Given the description of an element on the screen output the (x, y) to click on. 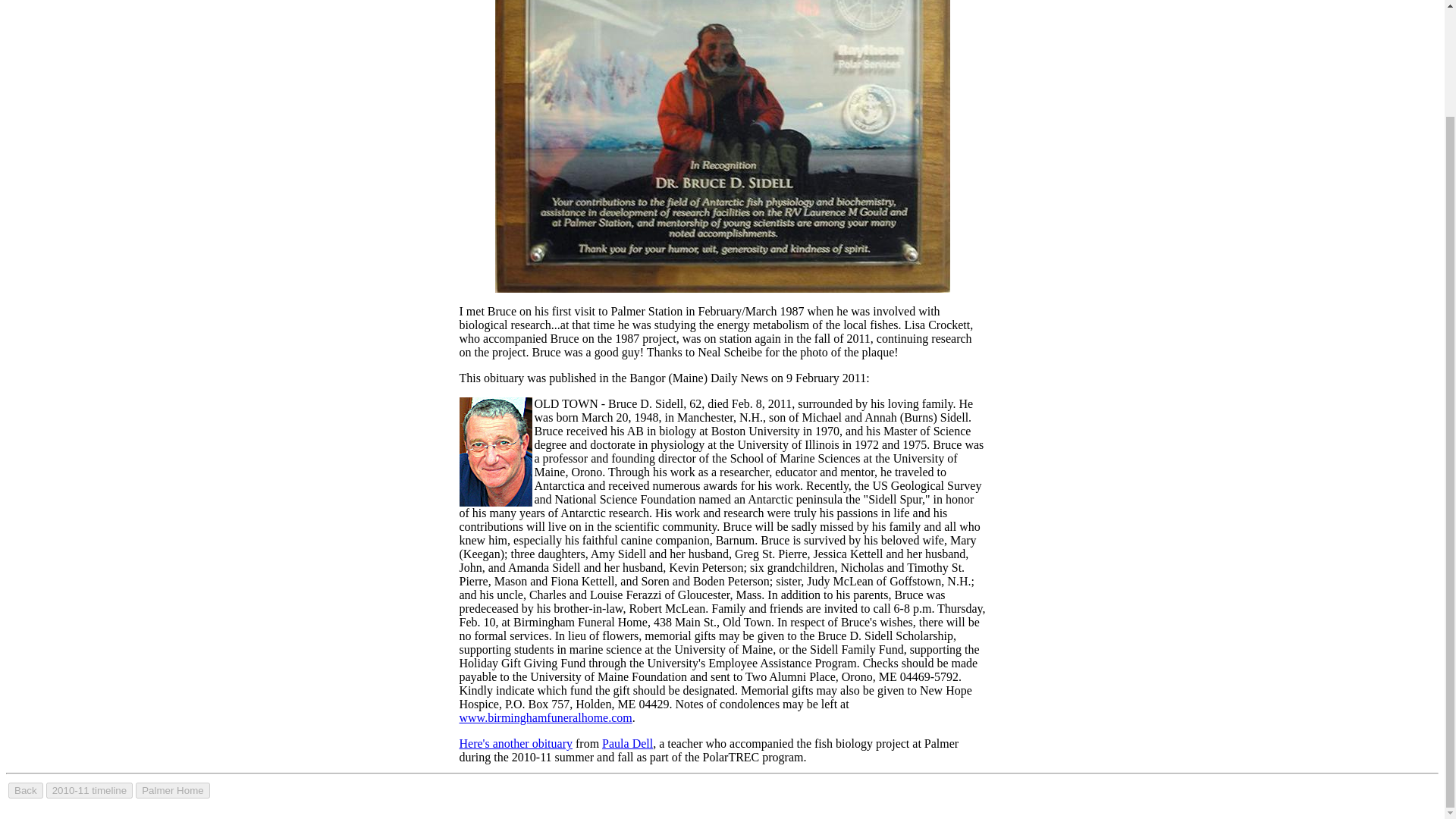
Palmer Home (172, 790)
Bruce Sidell (722, 146)
2010-11 timeline (89, 790)
Here's another obituary (516, 743)
Paula Dell (627, 743)
Back (25, 790)
www.birminghamfuneralhome.com (545, 717)
